Given the description of an element on the screen output the (x, y) to click on. 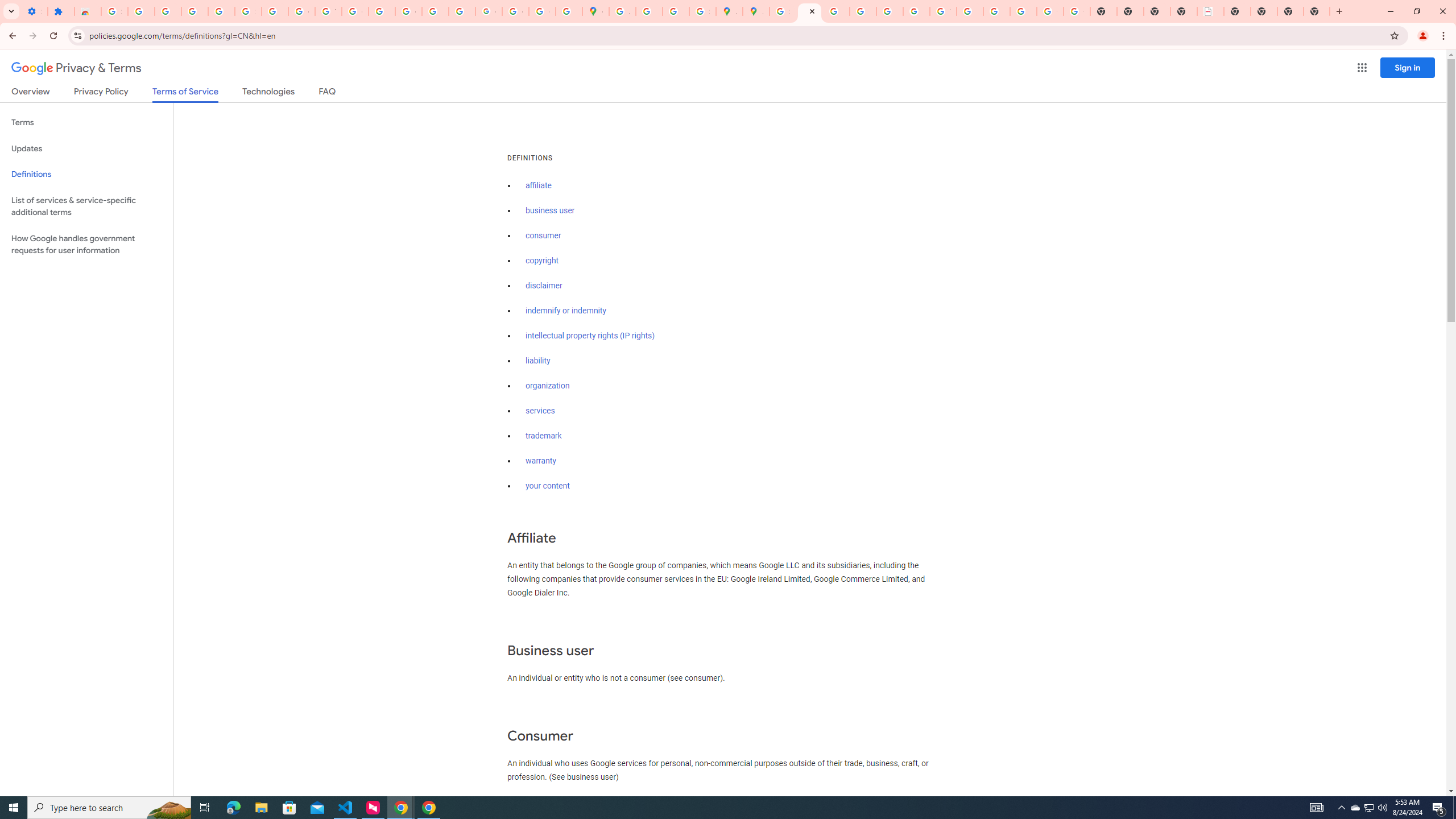
Delete photos & videos - Computer - Google Photos Help (167, 11)
intellectual property rights (IP rights) (590, 335)
trademark (543, 435)
Reviews: Helix Fruit Jump Arcade Game (87, 11)
indemnify or indemnity (565, 311)
services (539, 411)
liability (537, 361)
Technologies (268, 93)
